Given the description of an element on the screen output the (x, y) to click on. 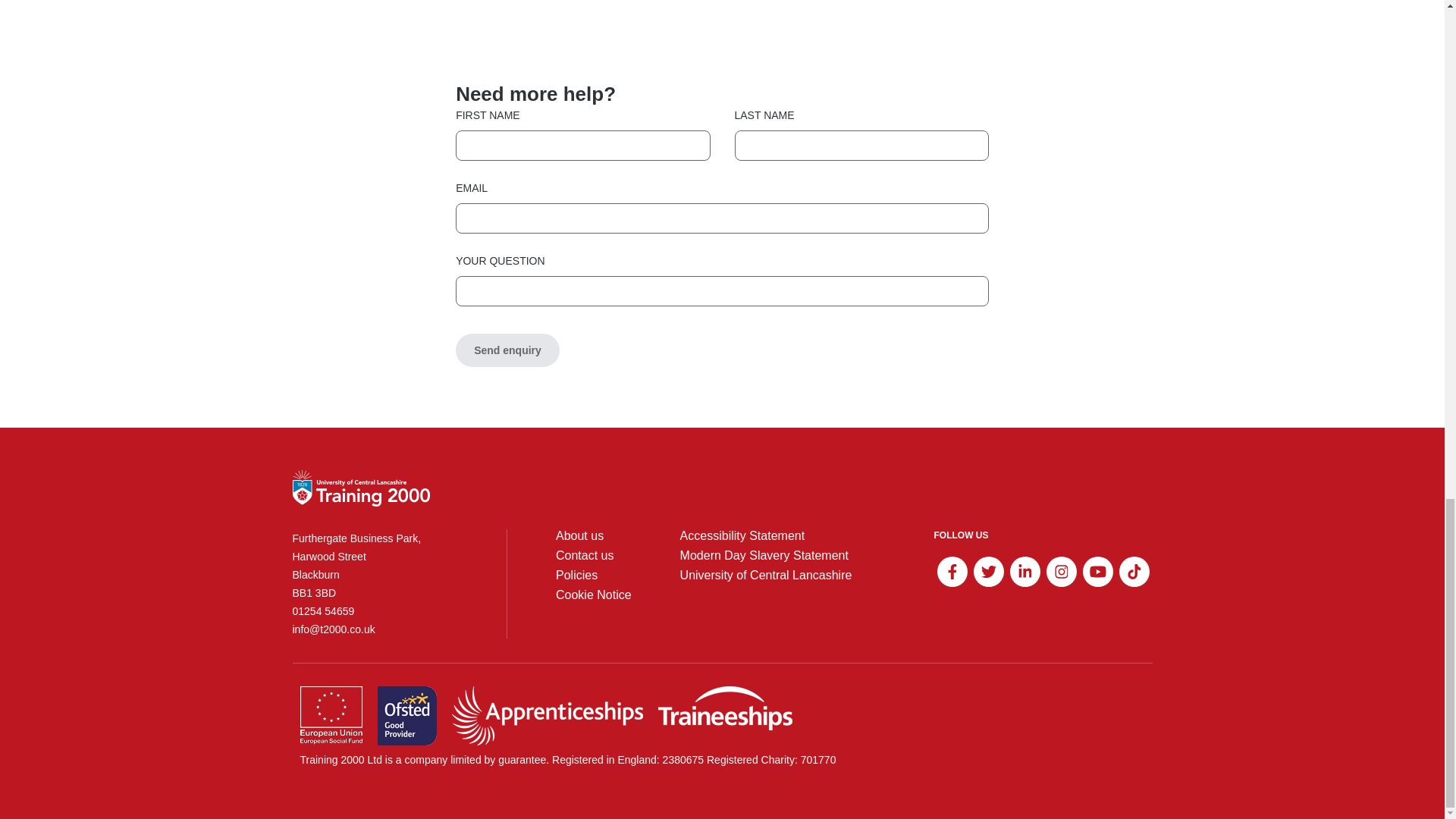
Modern Day Slavery Statement (763, 554)
Cookie Notice (593, 594)
Policies (576, 574)
About us (580, 535)
Accessibility Statement (742, 535)
01254 54659 (375, 610)
University of Central Lancashire (765, 574)
Contact us (584, 554)
Send enquiry (507, 349)
